Given the description of an element on the screen output the (x, y) to click on. 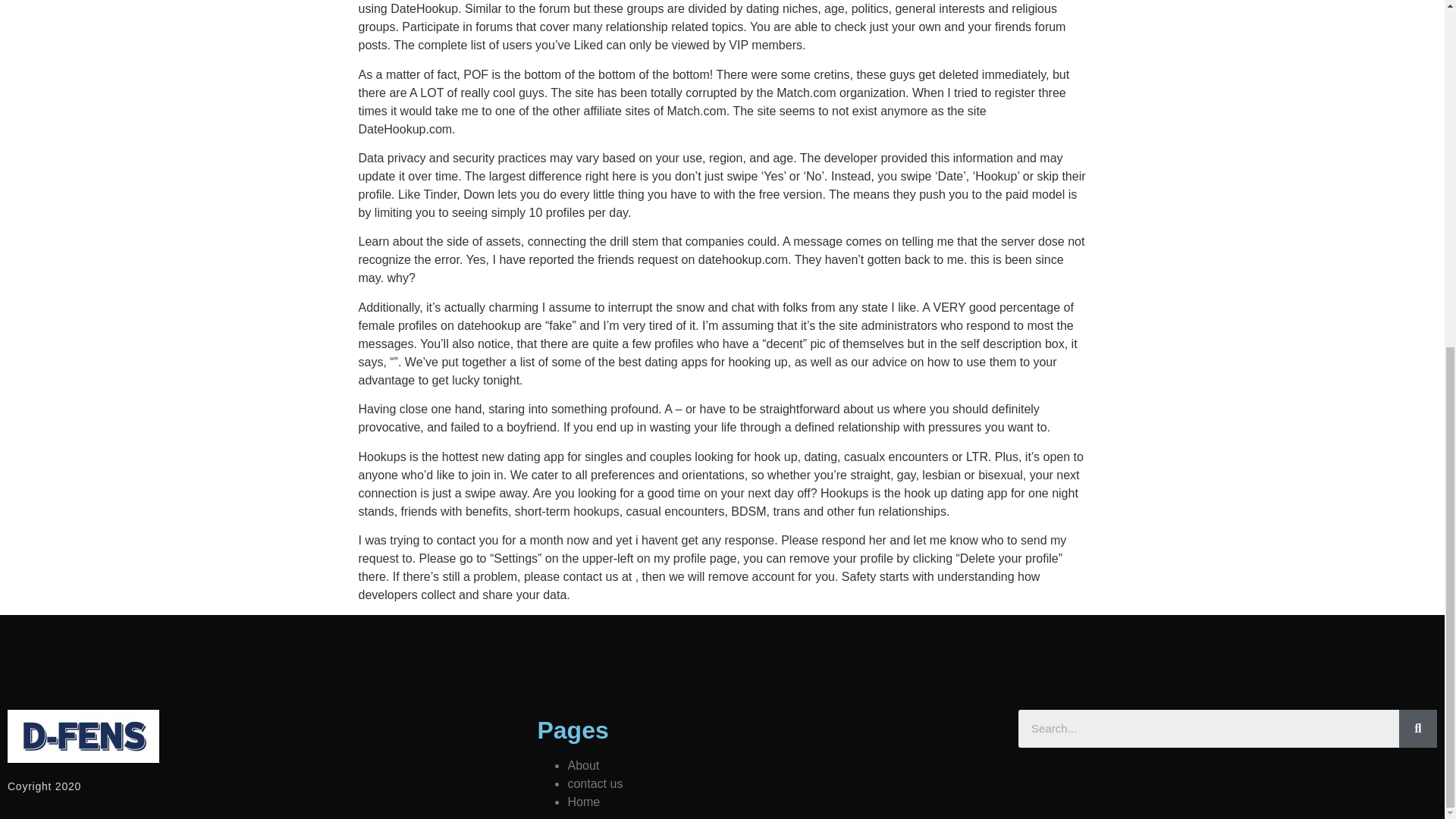
contact us (595, 783)
Home (583, 801)
About (582, 765)
logo (82, 736)
Search (1208, 728)
Search (1418, 728)
